Given the description of an element on the screen output the (x, y) to click on. 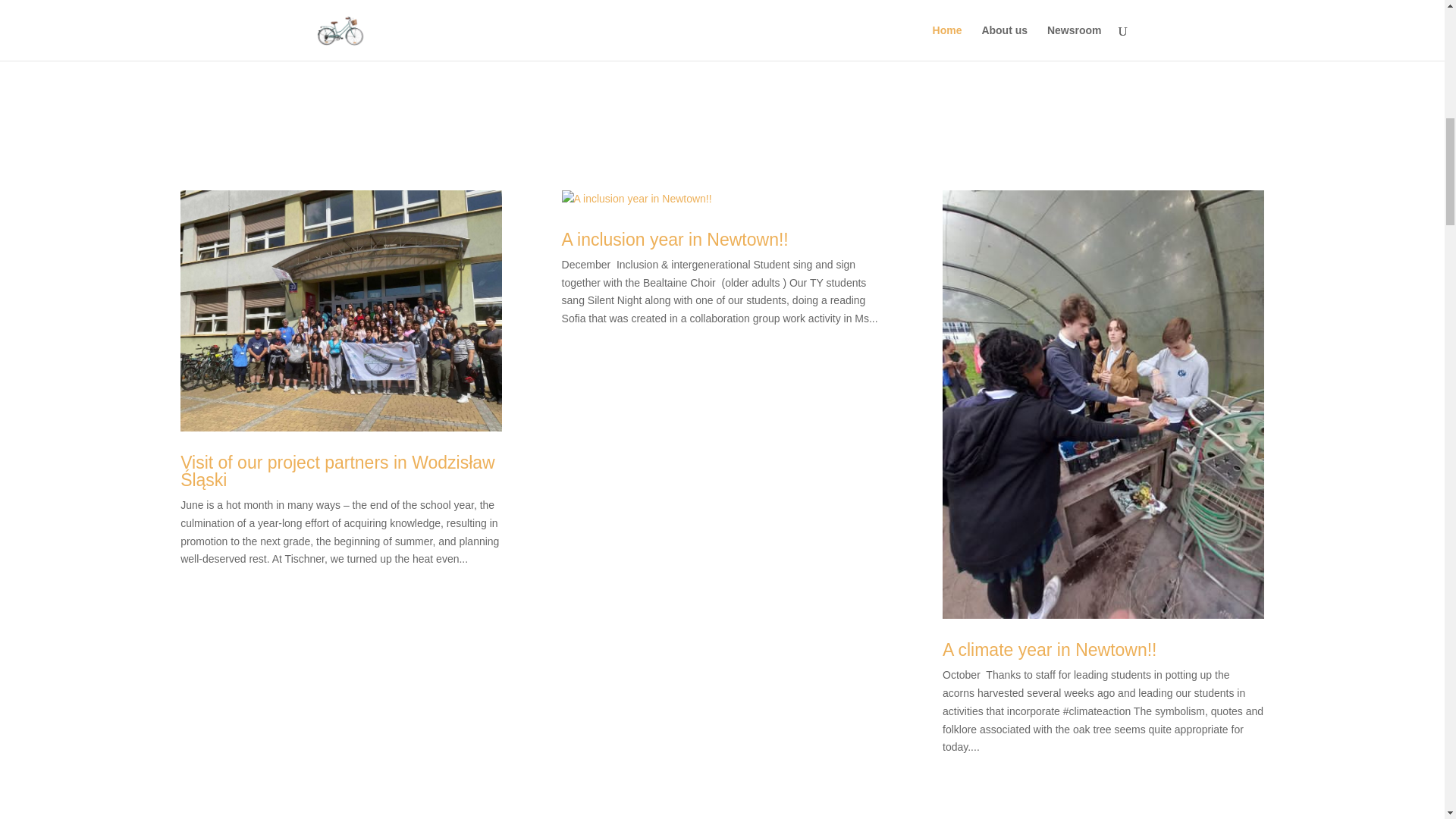
A climate year in Newtown!! (1049, 433)
A inclusion year in Newtown!! (675, 433)
